Given the description of an element on the screen output the (x, y) to click on. 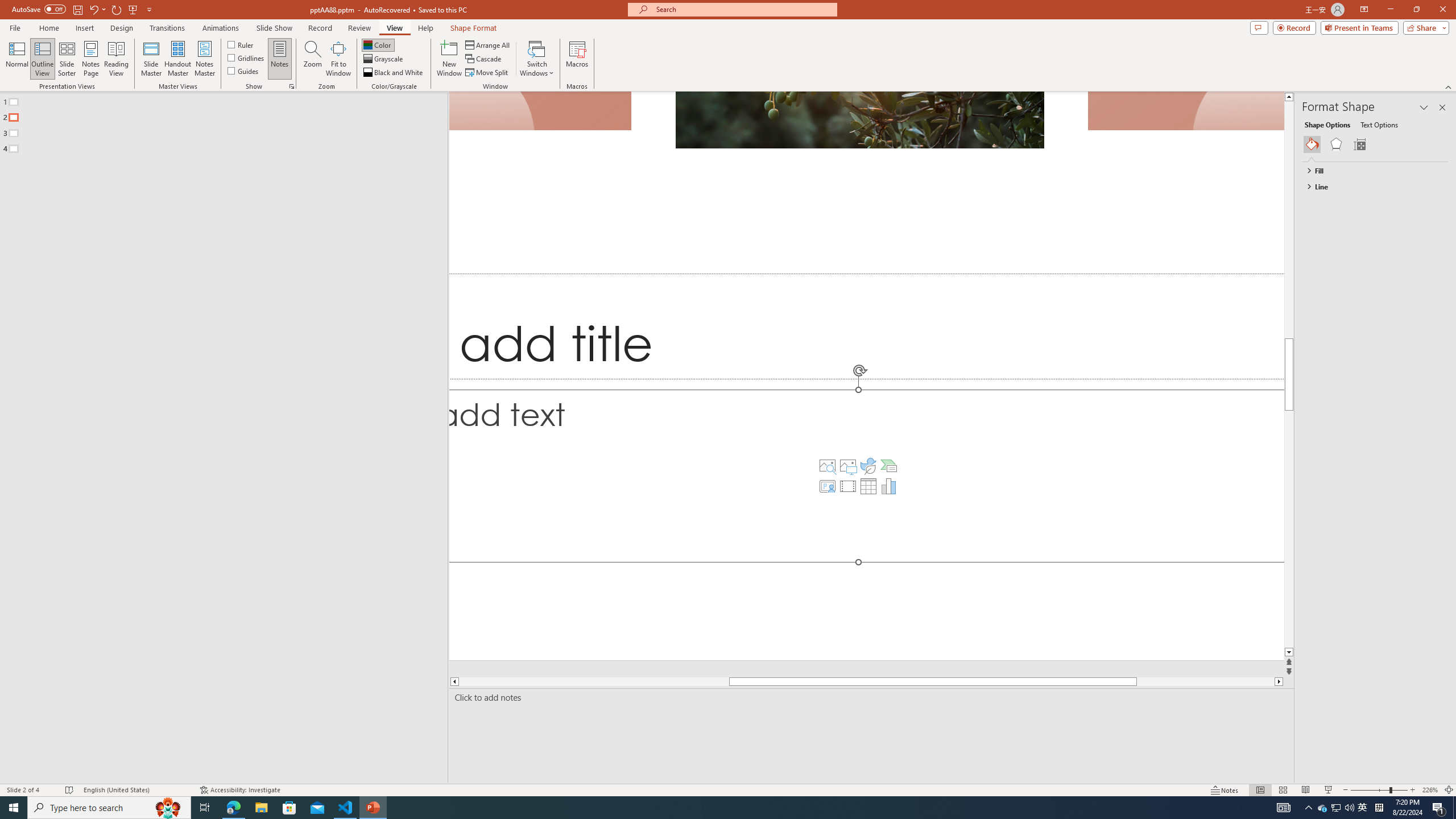
Class: NetUIScrollBar (1443, 468)
Gridlines (246, 56)
Stock Images (827, 466)
Slide Master (151, 58)
Size & Properties (1359, 144)
